Given the description of an element on the screen output the (x, y) to click on. 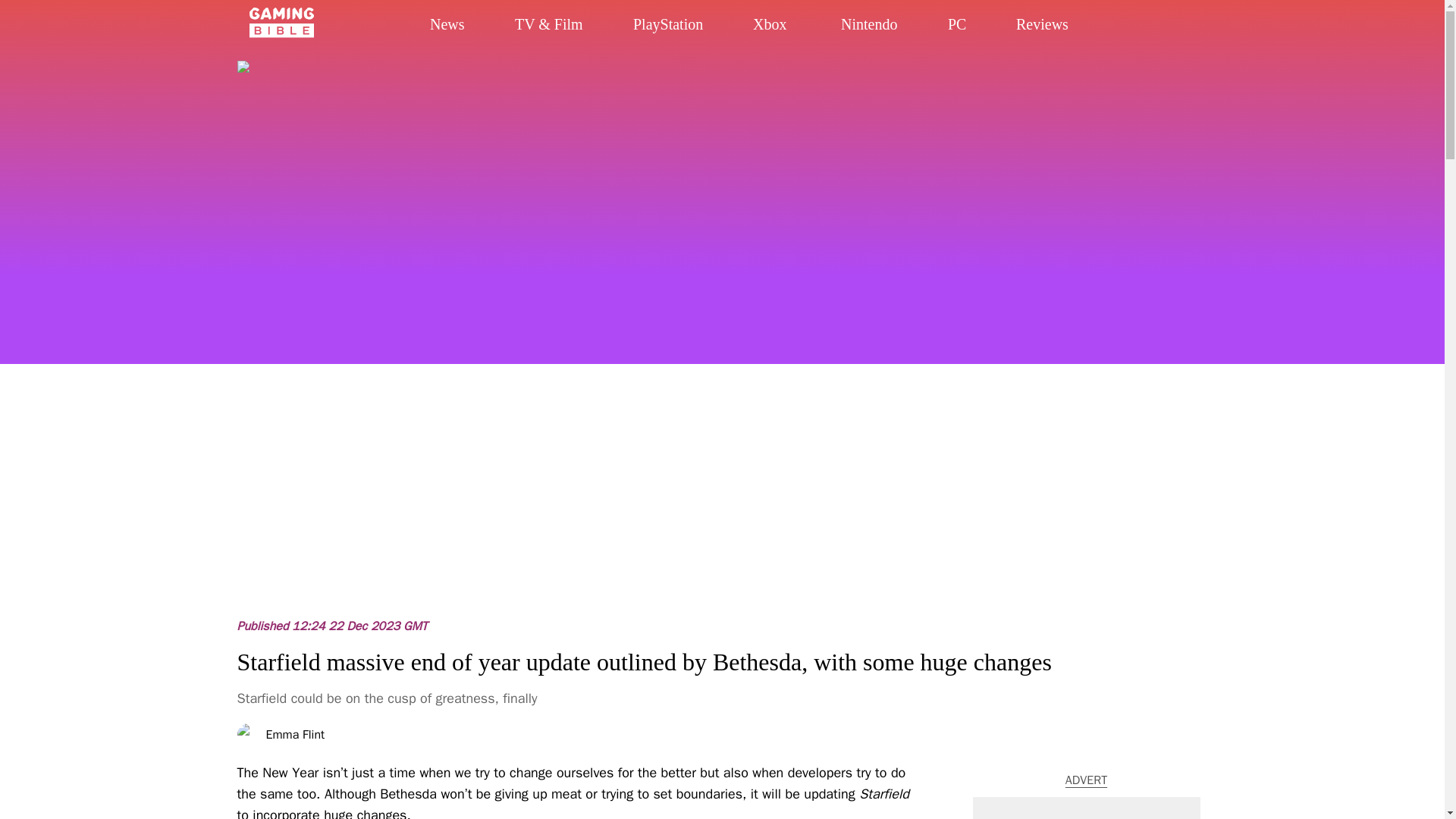
Nintendo (858, 23)
Reviews (1028, 23)
PC (947, 23)
Xbox (765, 24)
News (447, 25)
PlayStation (664, 24)
Emma Flint (294, 734)
